Given the description of an element on the screen output the (x, y) to click on. 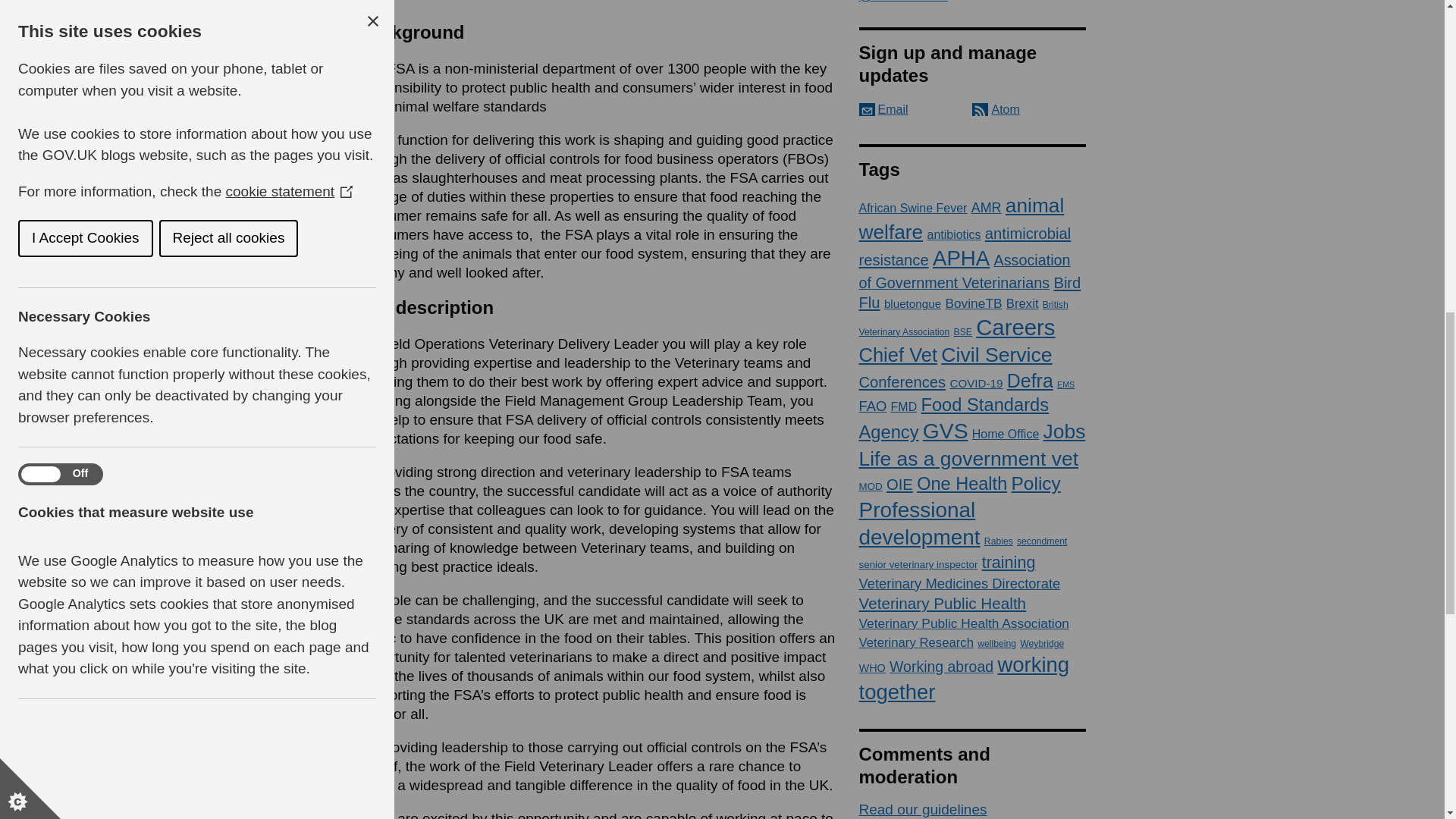
Email (883, 109)
African Swine Fever (912, 207)
animal welfare (961, 218)
AMR (986, 207)
Atom (995, 109)
